Given the description of an element on the screen output the (x, y) to click on. 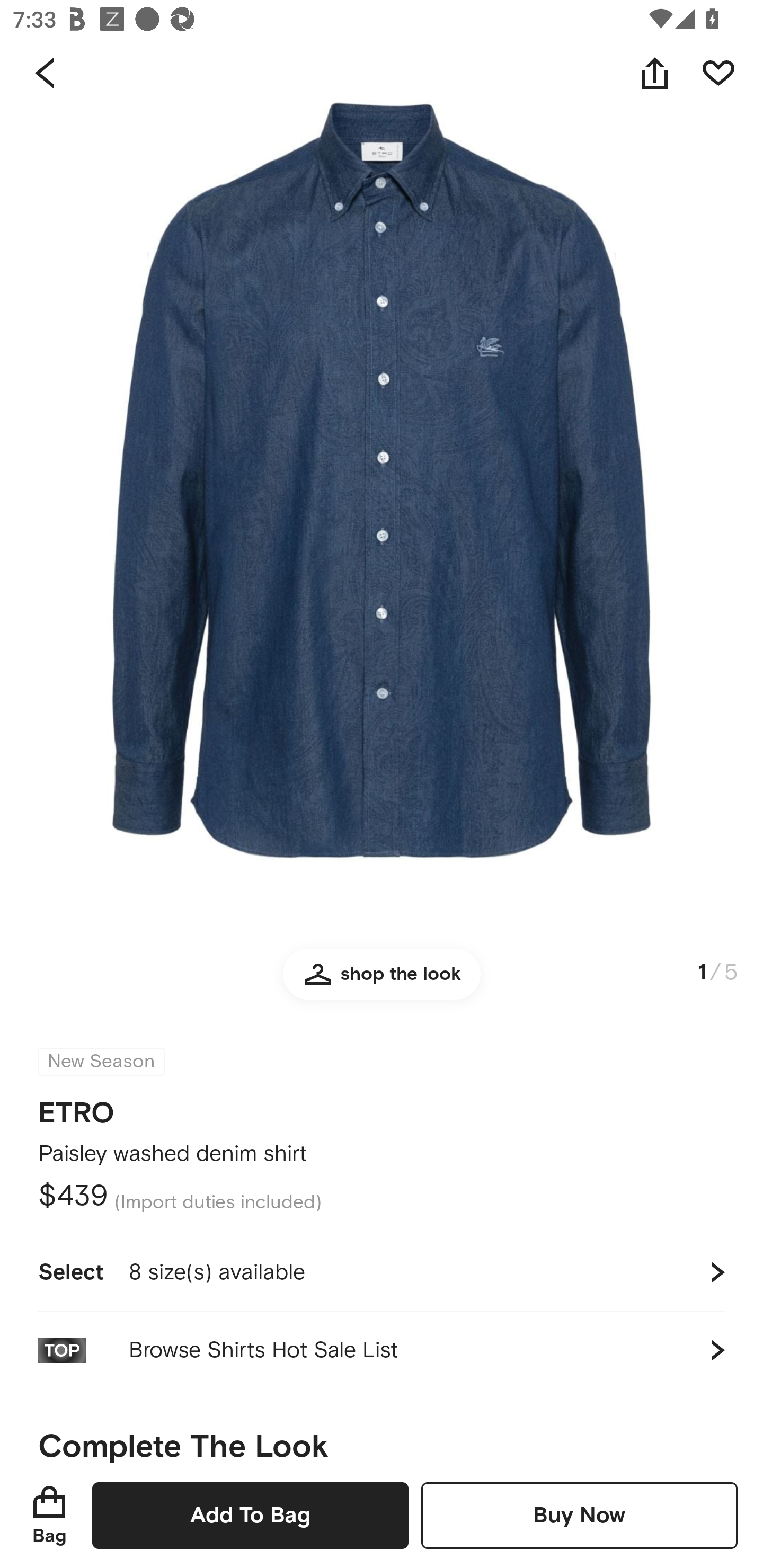
shop the look (381, 982)
ETRO (76, 1107)
Select 8 size(s) available (381, 1272)
Browse Shirts Hot Sale List (381, 1349)
Bag (49, 1515)
Add To Bag (250, 1515)
Buy Now (579, 1515)
